Given the description of an element on the screen output the (x, y) to click on. 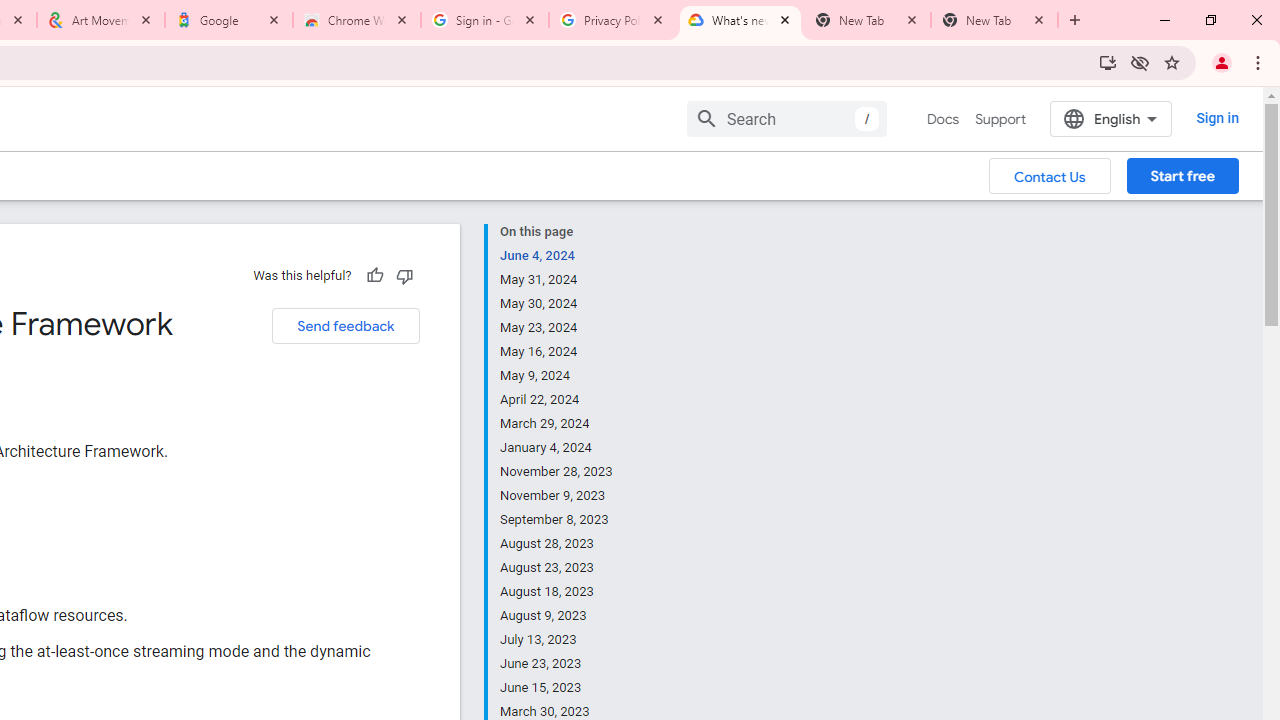
Docs, selected (942, 119)
April 22, 2024 (557, 399)
August 23, 2023 (557, 567)
August 18, 2023 (557, 592)
Not helpful (404, 275)
Contact Us (1050, 175)
June 15, 2023 (557, 687)
Chrome Web Store - Color themes by Chrome (357, 20)
September 8, 2023 (557, 520)
November 28, 2023 (557, 471)
June 23, 2023 (557, 664)
May 16, 2024 (557, 351)
